Given the description of an element on the screen output the (x, y) to click on. 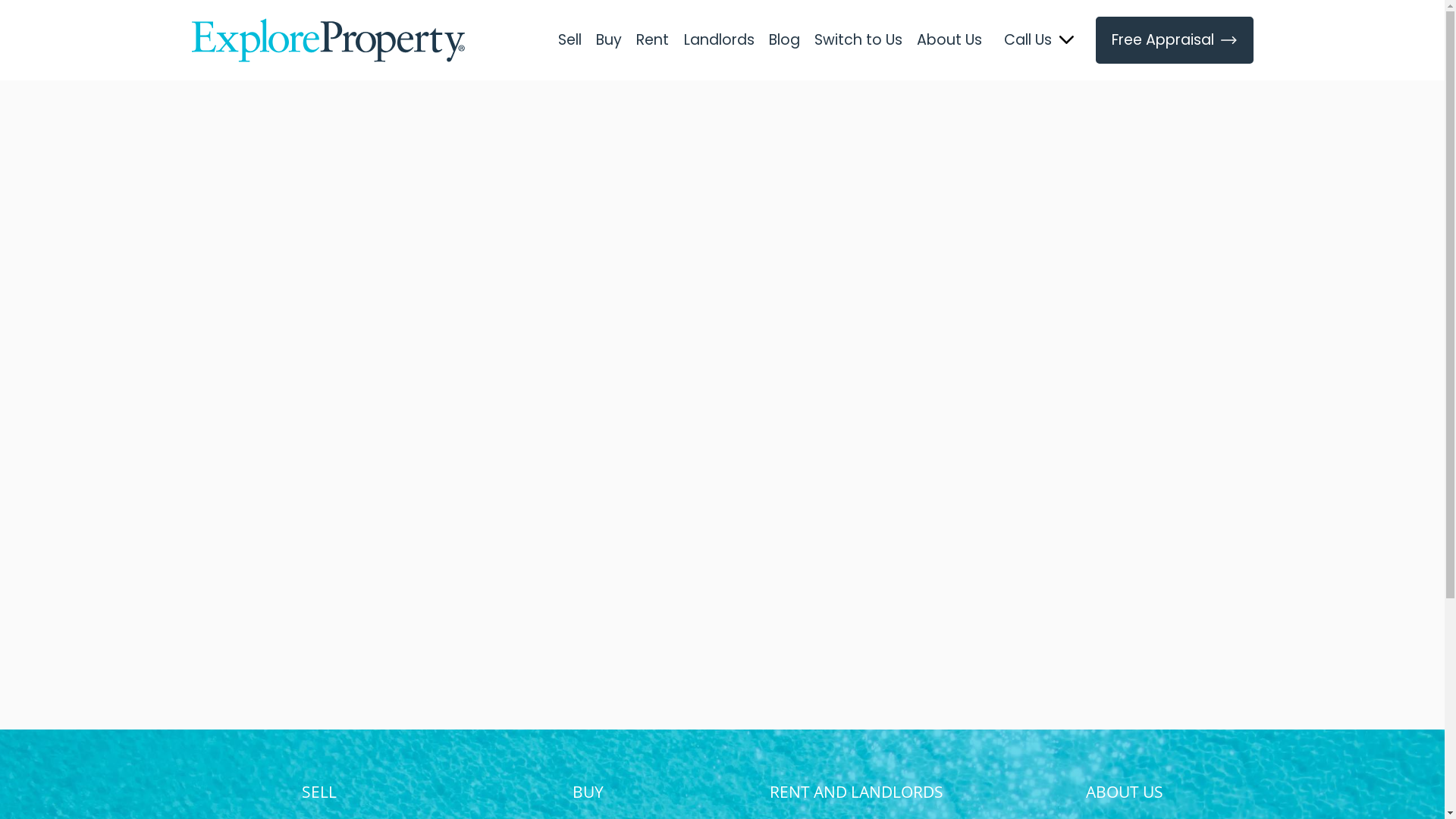
Sell Element type: text (569, 39)
Call Us Element type: text (1027, 39)
Free Appraisal Element type: text (1174, 39)
Buy Element type: text (609, 39)
Blog Element type: text (783, 39)
About Us Element type: text (949, 39)
Rent Element type: text (652, 39)
Landlords Element type: text (718, 39)
Switch to Us Element type: text (857, 39)
